Given the description of an element on the screen output the (x, y) to click on. 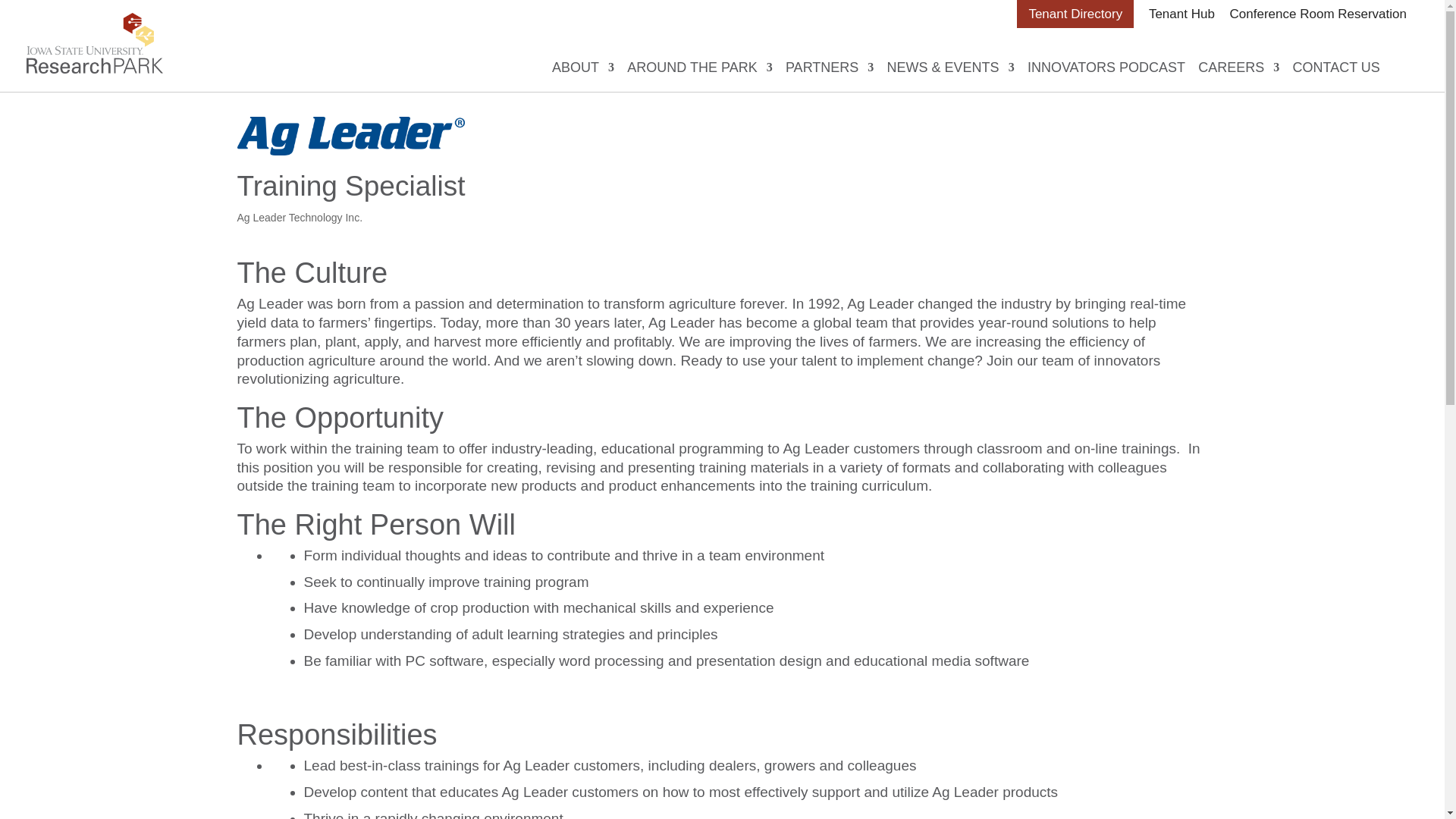
Tenant Hub (1181, 13)
Tenant Directory (1074, 13)
CAREERS (1238, 67)
CONTACT US (1336, 67)
AROUND THE PARK (699, 67)
ABOUT (582, 67)
Conference Room Reservation (1318, 13)
PARTNERS (829, 67)
INNOVATORS PODCAST (1106, 67)
